Given the description of an element on the screen output the (x, y) to click on. 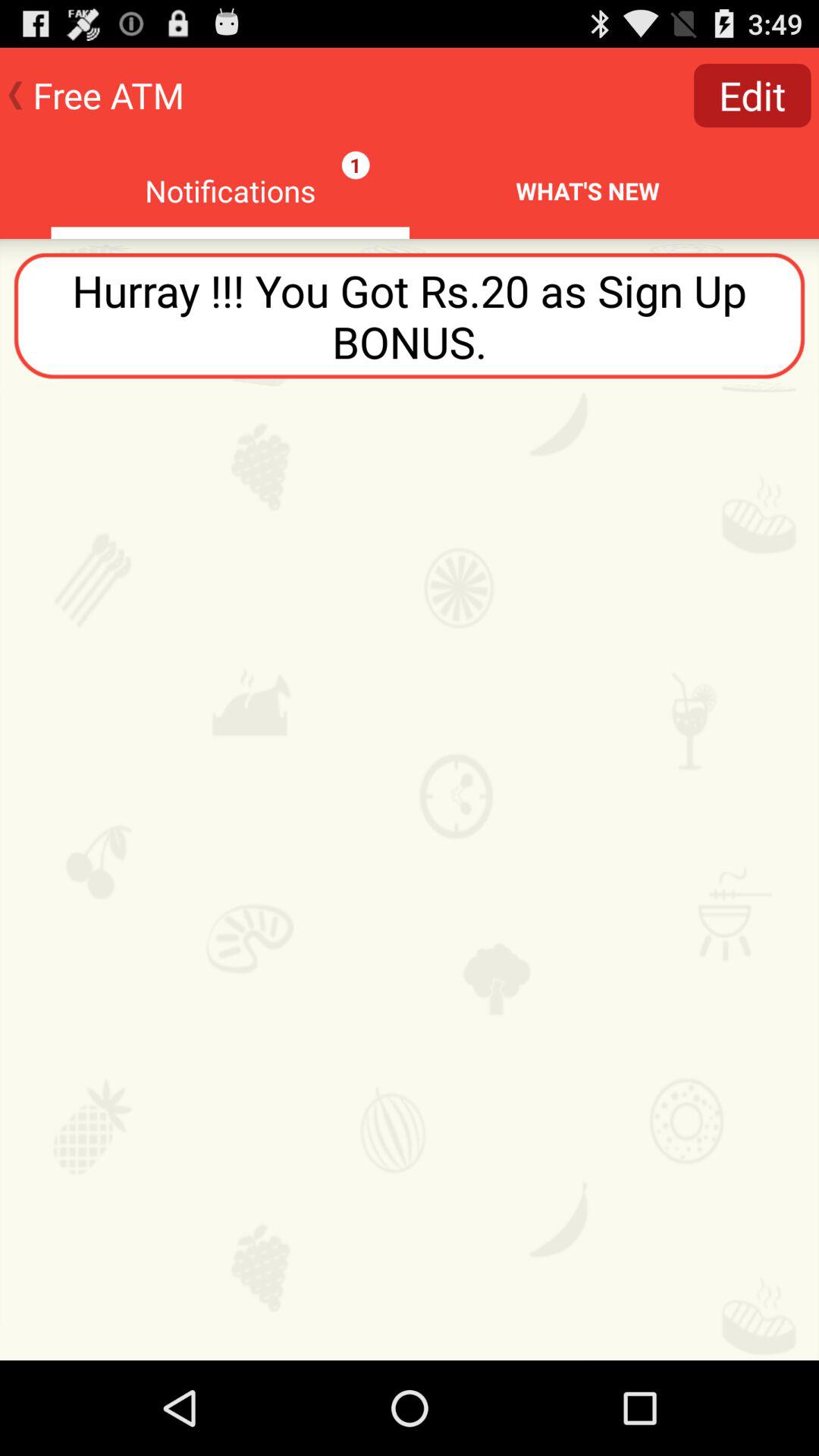
tap the    edit    button (752, 95)
